Given the description of an element on the screen output the (x, y) to click on. 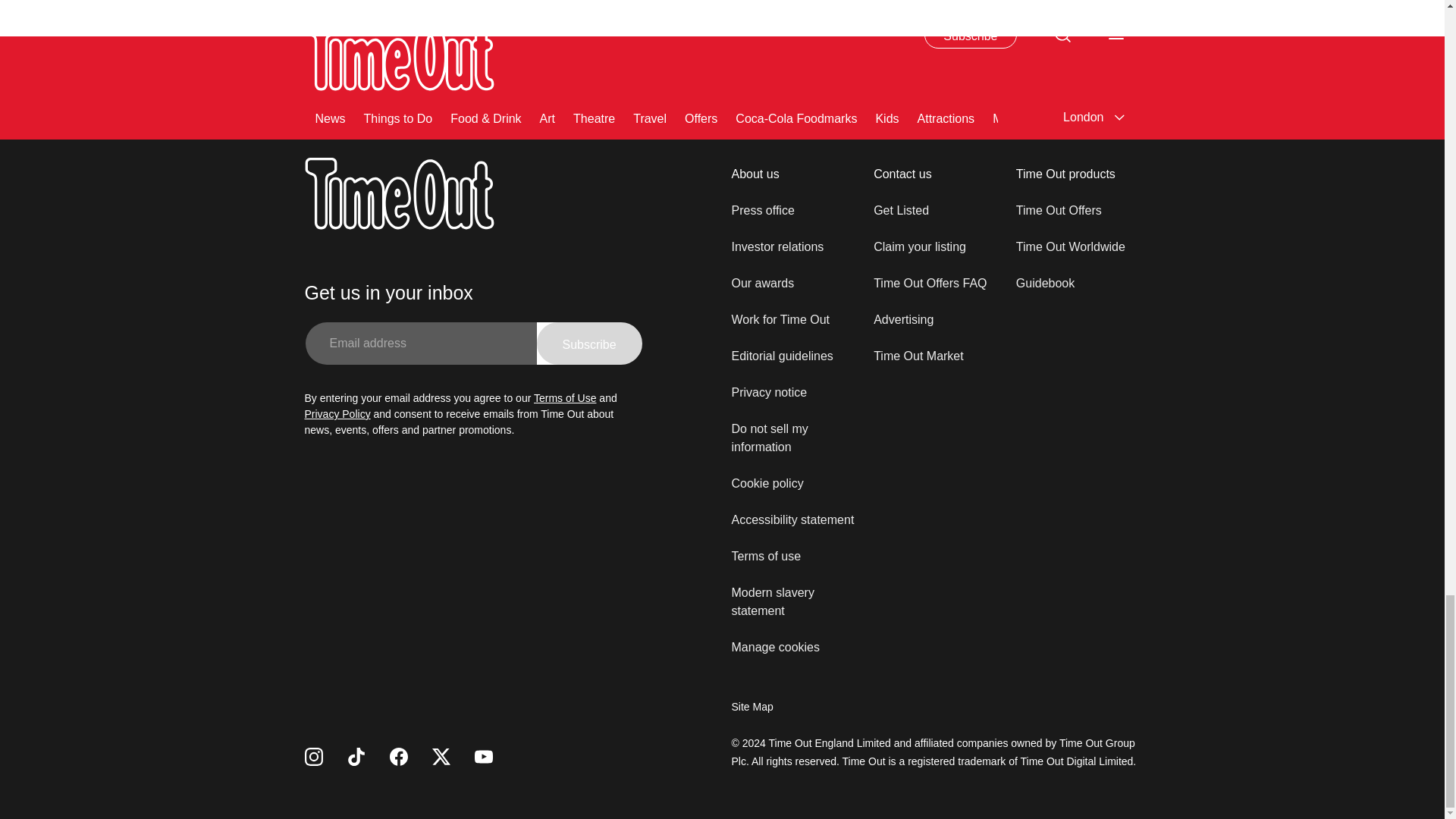
Subscribe (589, 343)
